Given the description of an element on the screen output the (x, y) to click on. 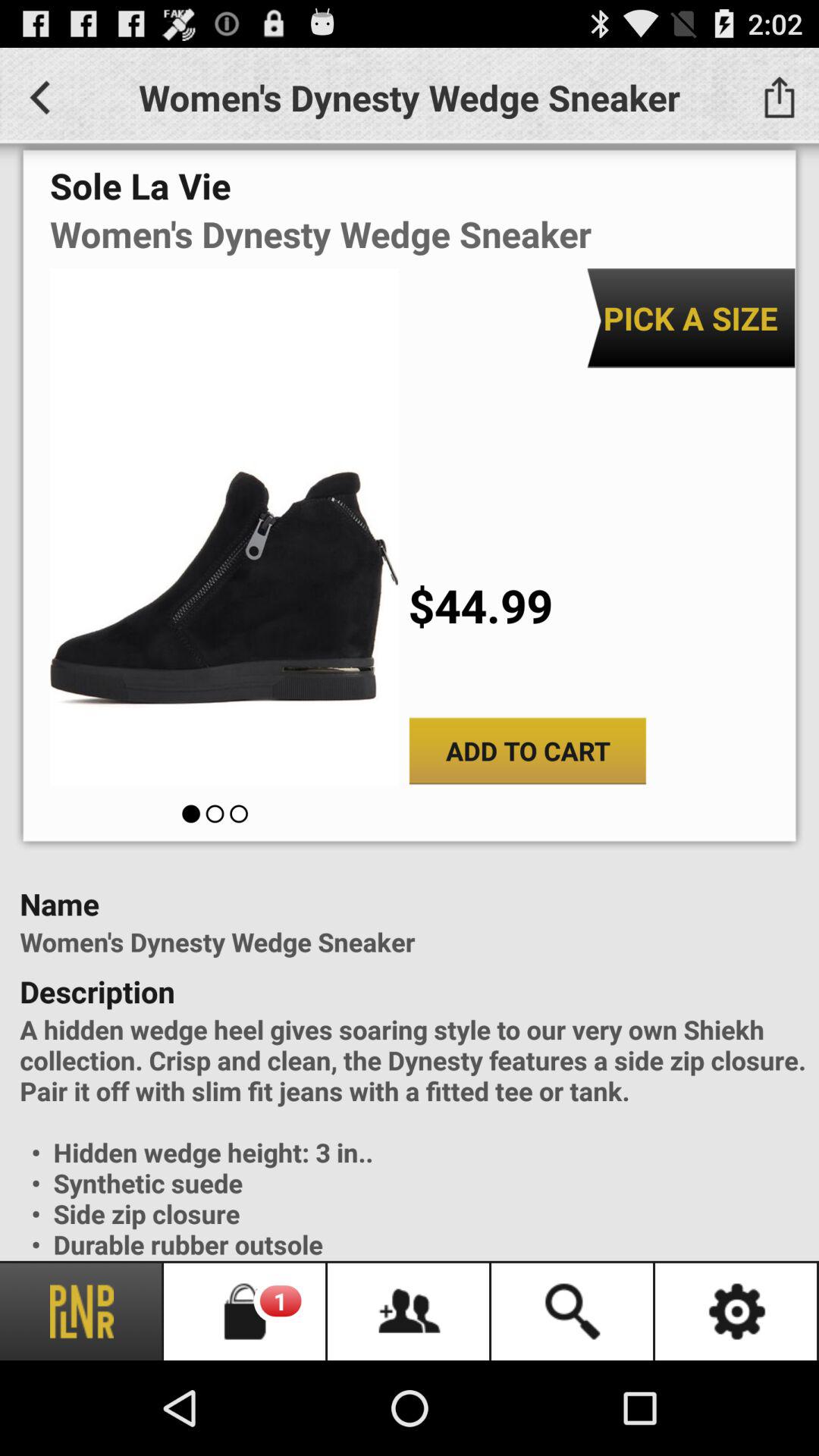
scroll until pick a size icon (690, 317)
